Given the description of an element on the screen output the (x, y) to click on. 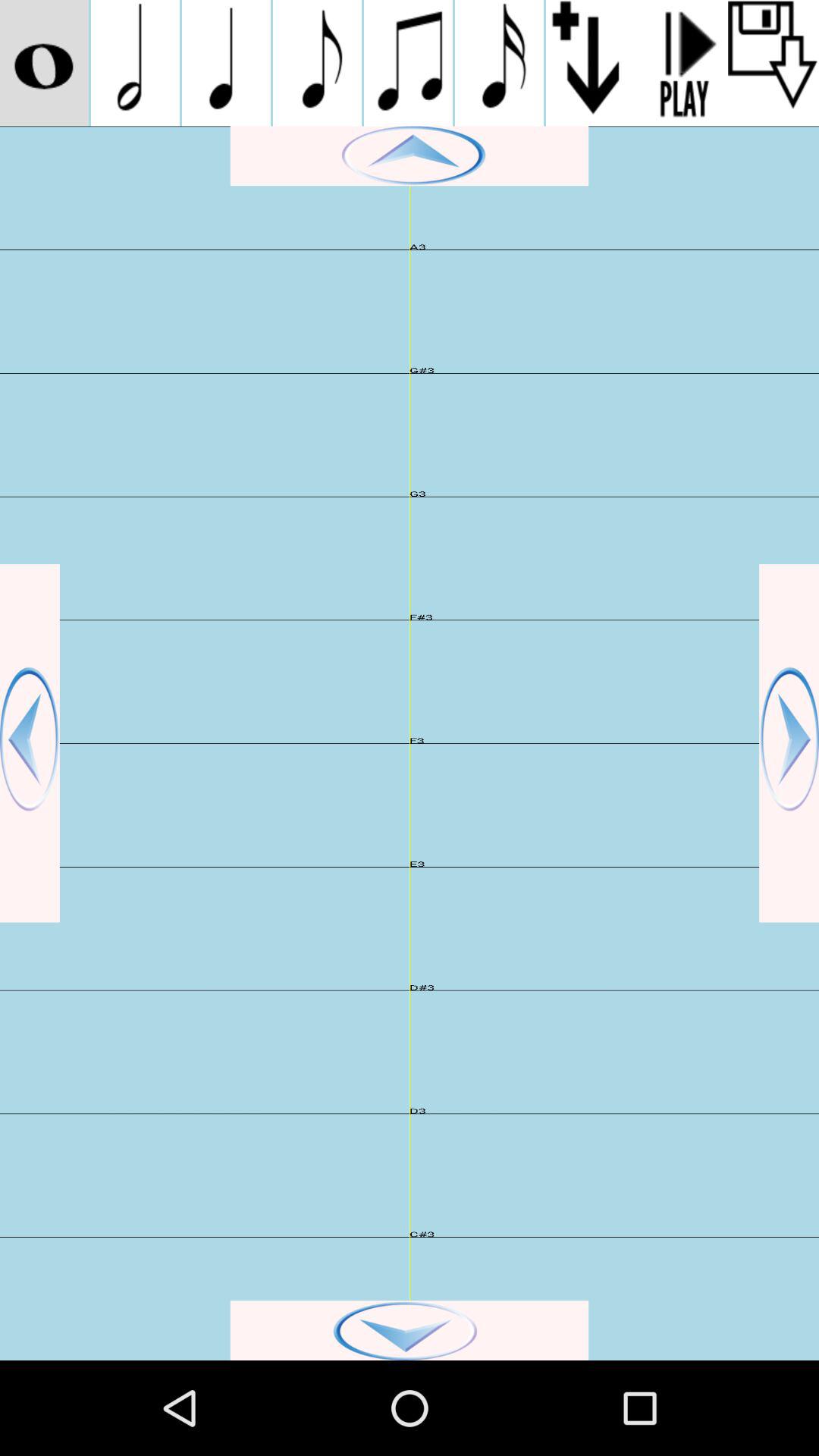
choose music note (317, 63)
